Given the description of an element on the screen output the (x, y) to click on. 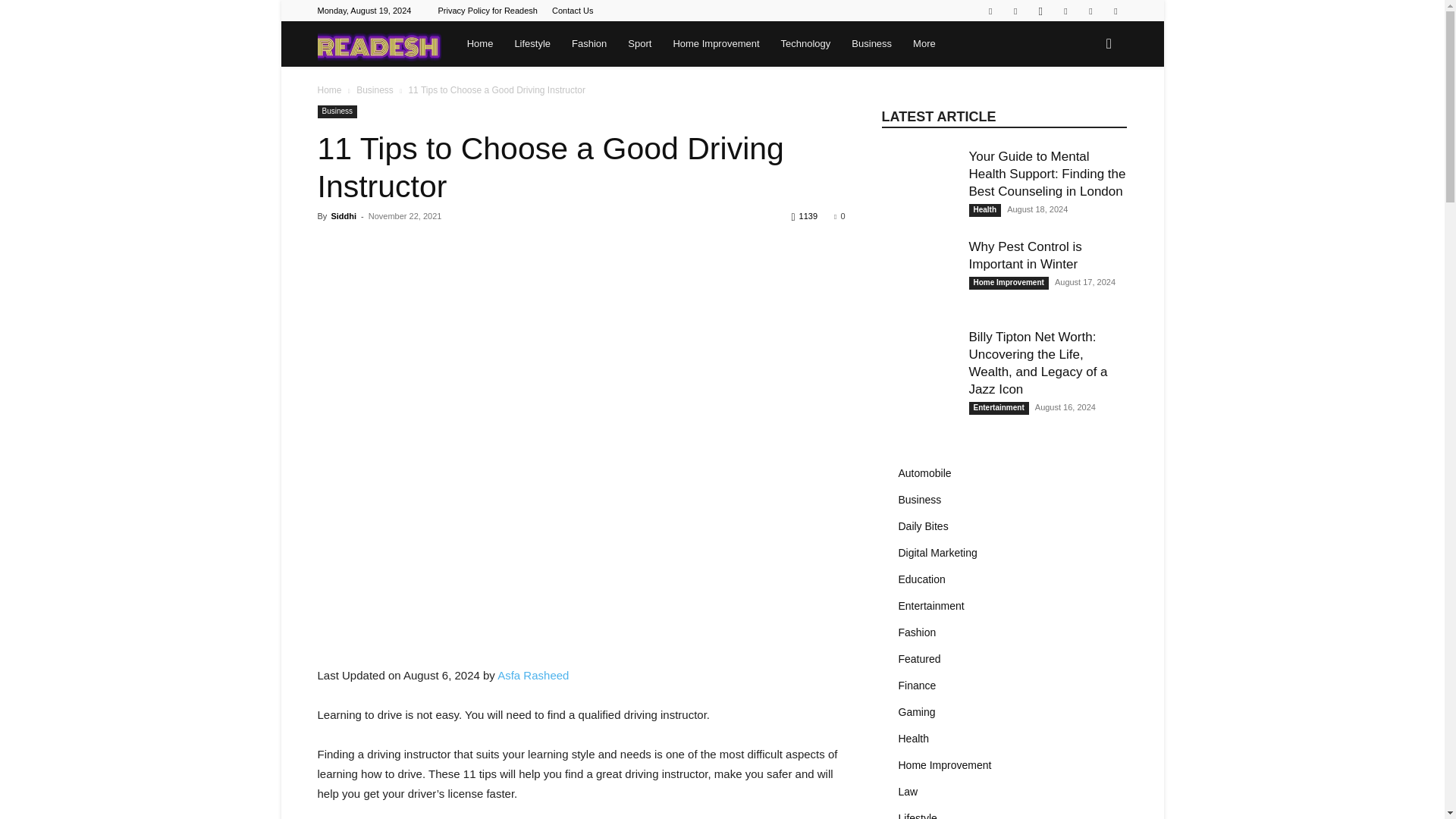
Behance (989, 10)
Vimeo (1090, 10)
Twitter (1065, 10)
VKontakte (1114, 10)
Readish Logo (379, 44)
Facebook (1015, 10)
Contact Us (571, 10)
Privacy Policy for Readesh (487, 10)
Instagram (1040, 10)
